Given the description of an element on the screen output the (x, y) to click on. 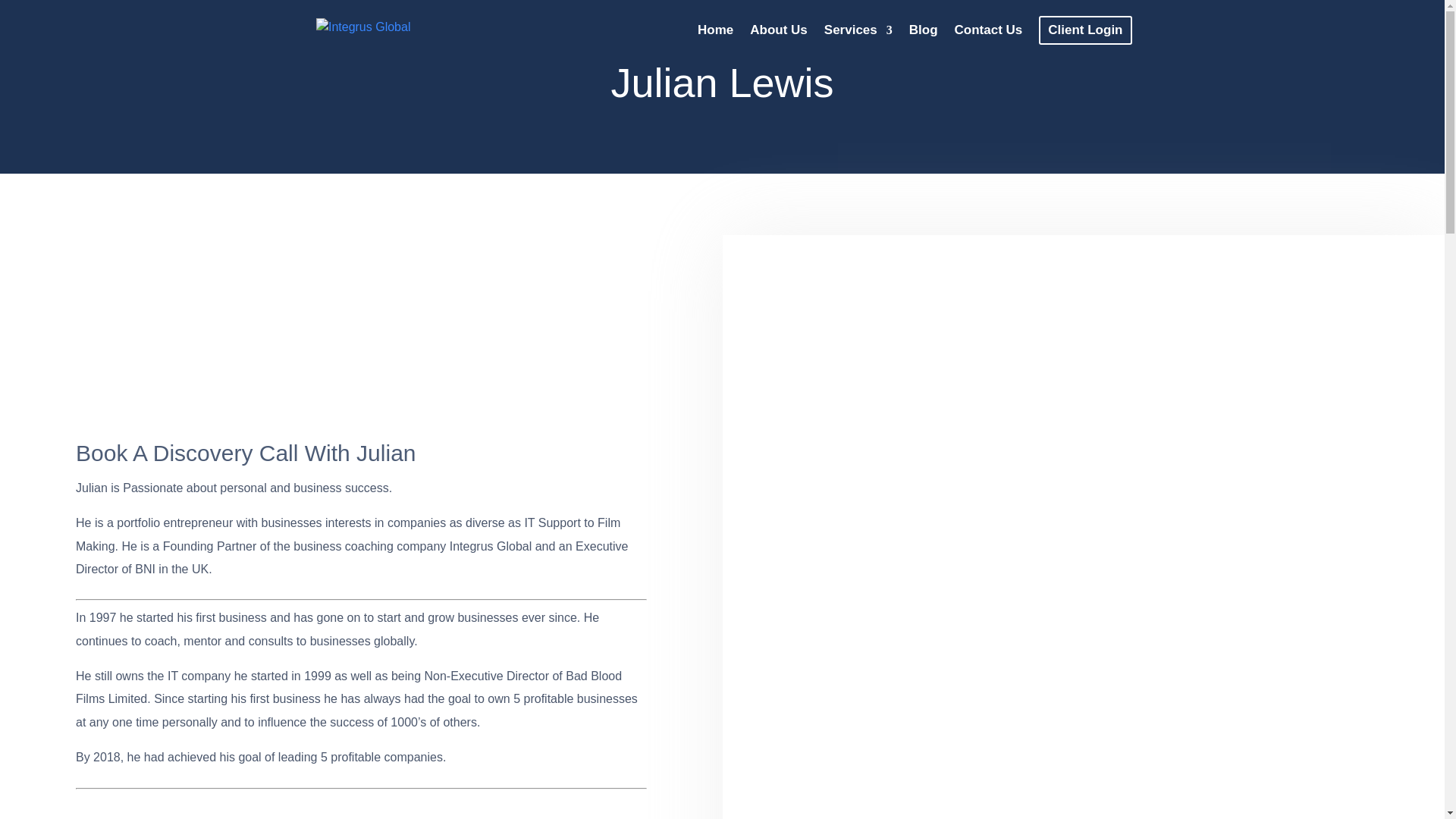
About Us (778, 42)
Services (858, 42)
Contact Us (989, 42)
Client Login (1085, 30)
Home (715, 42)
